Given the description of an element on the screen output the (x, y) to click on. 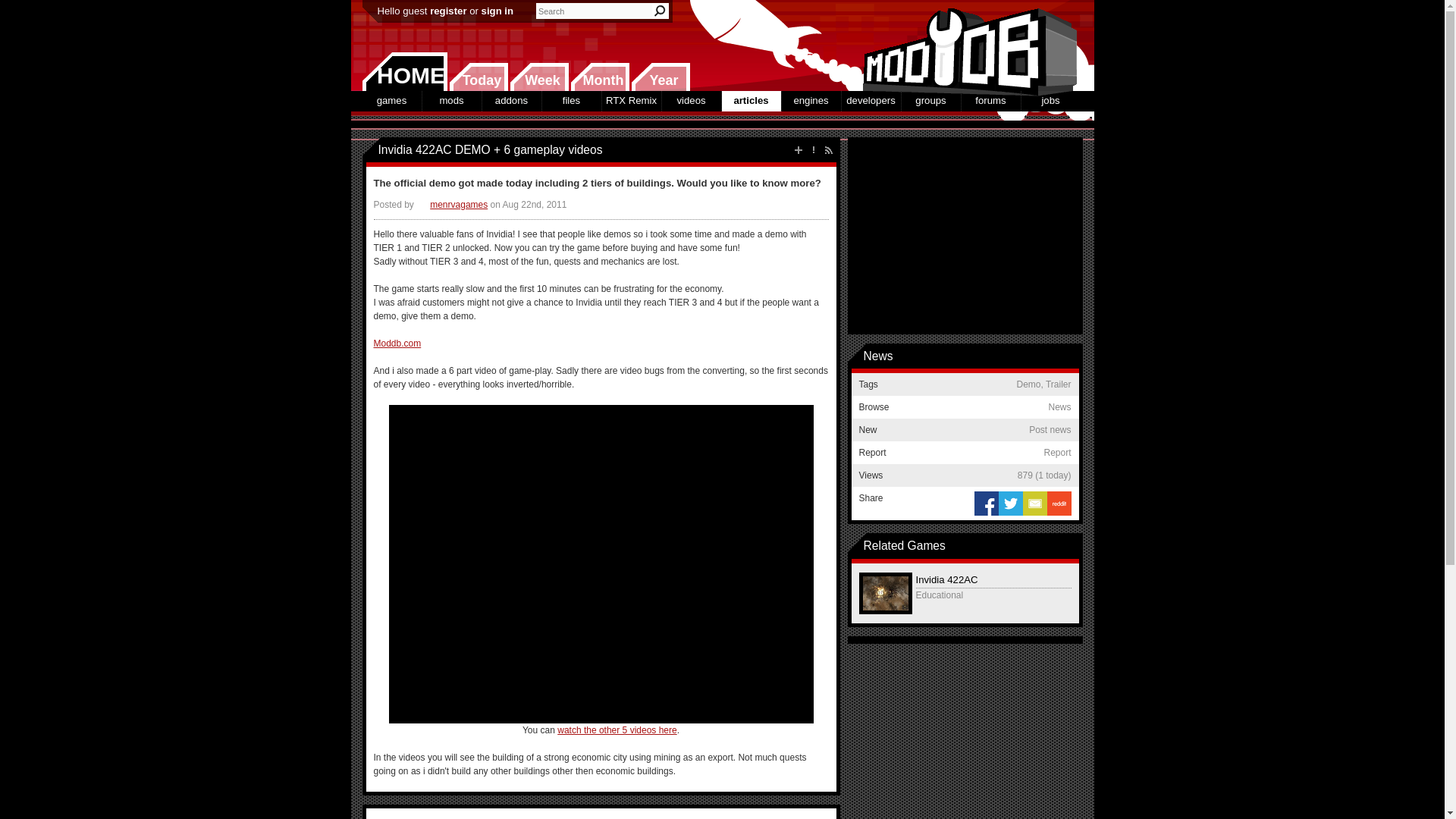
files (570, 100)
New this month (599, 76)
New this week (539, 76)
videos (690, 100)
register (447, 10)
Report (813, 150)
Search ModDB (660, 10)
mods (451, 100)
HOME (405, 71)
ModDB Home (965, 45)
